Given the description of an element on the screen output the (x, y) to click on. 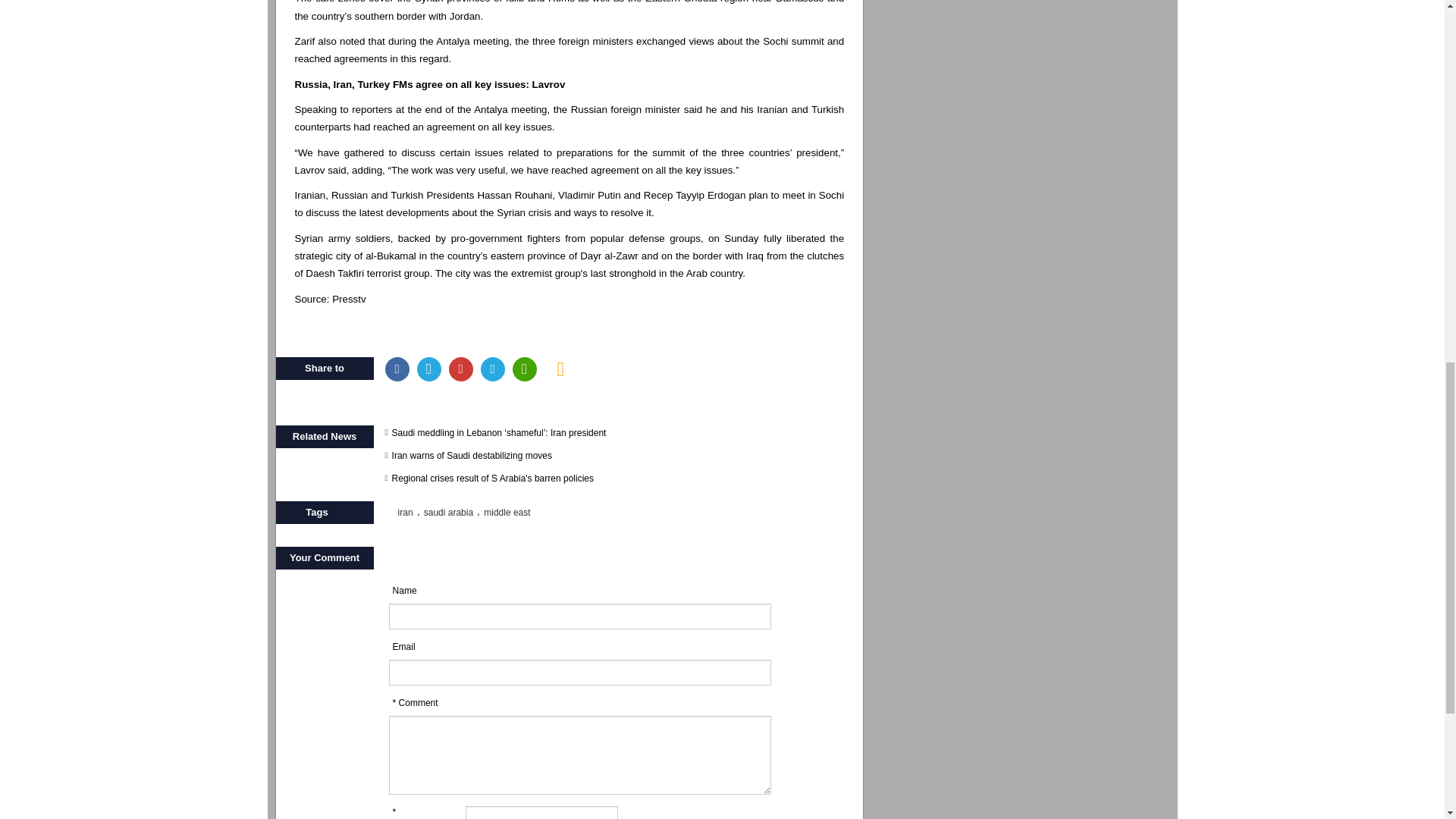
Regional crises result of S Arabia's barren policies (618, 478)
Iran warns of Saudi destabilizing moves (618, 455)
news error report (560, 369)
